Given the description of an element on the screen output the (x, y) to click on. 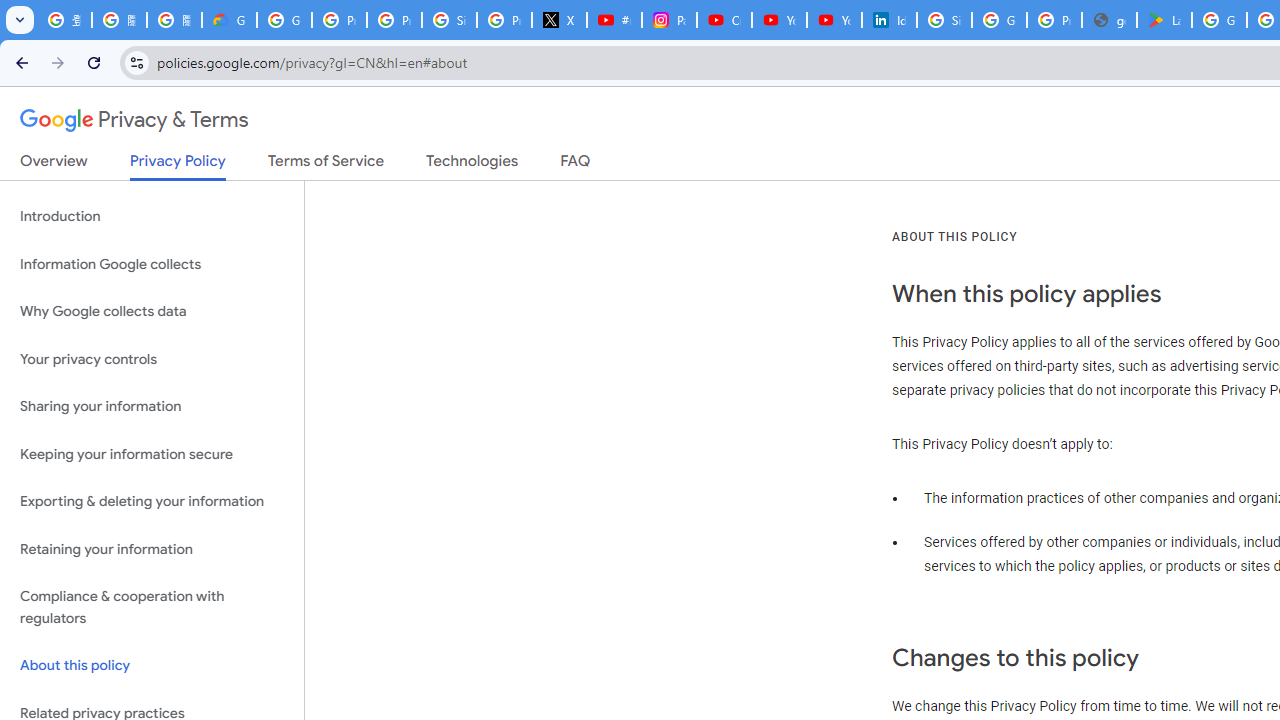
Technologies (472, 165)
Retaining your information (152, 548)
Your privacy controls (152, 358)
Sign in - Google Accounts (943, 20)
Privacy Help Center - Policies Help (394, 20)
About this policy (152, 666)
Why Google collects data (152, 312)
Compliance & cooperation with regulators (152, 607)
Exporting & deleting your information (152, 502)
